Given the description of an element on the screen output the (x, y) to click on. 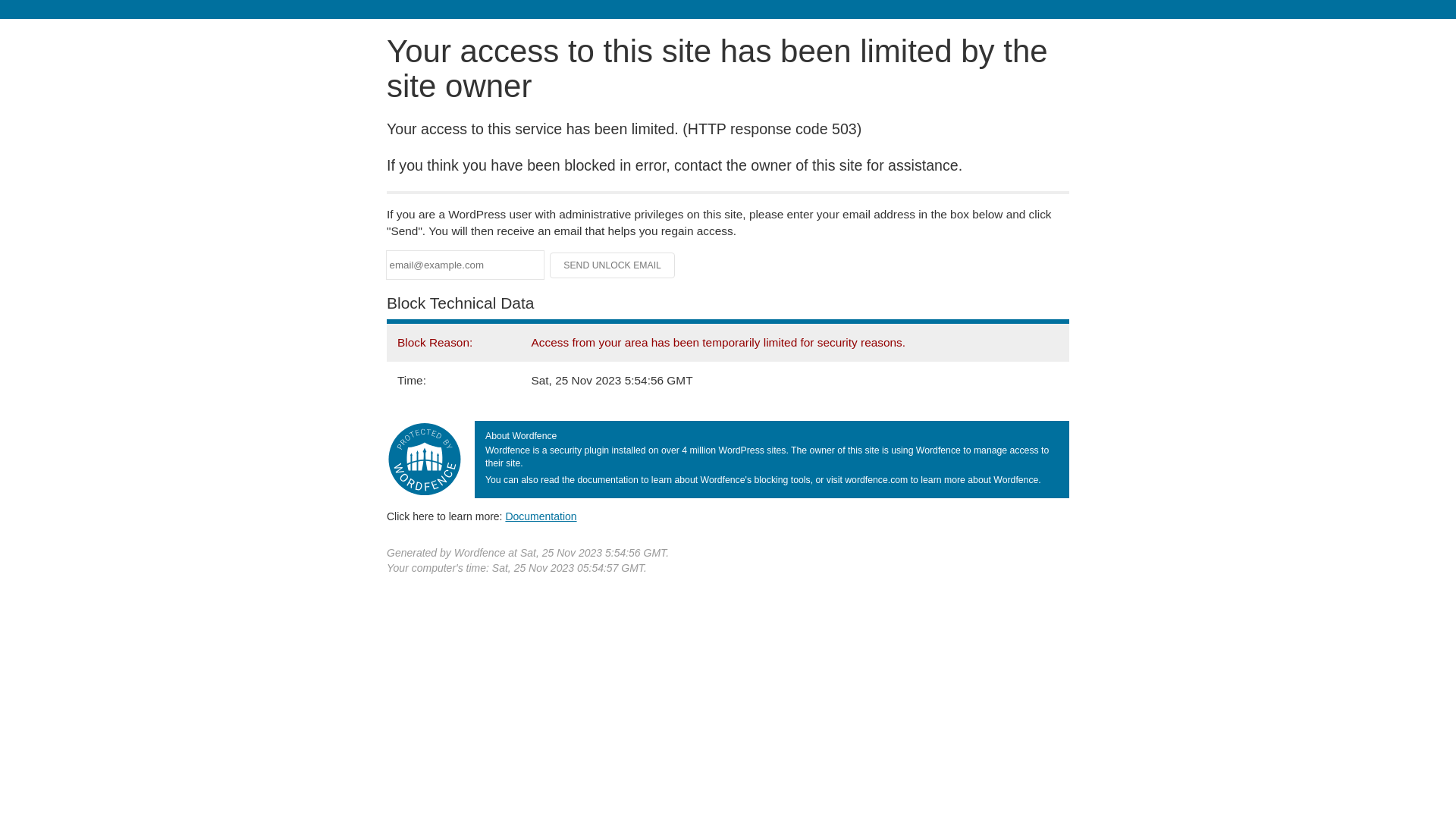
Send Unlock Email Element type: text (612, 265)
Documentation Element type: text (540, 516)
